Given the description of an element on the screen output the (x, y) to click on. 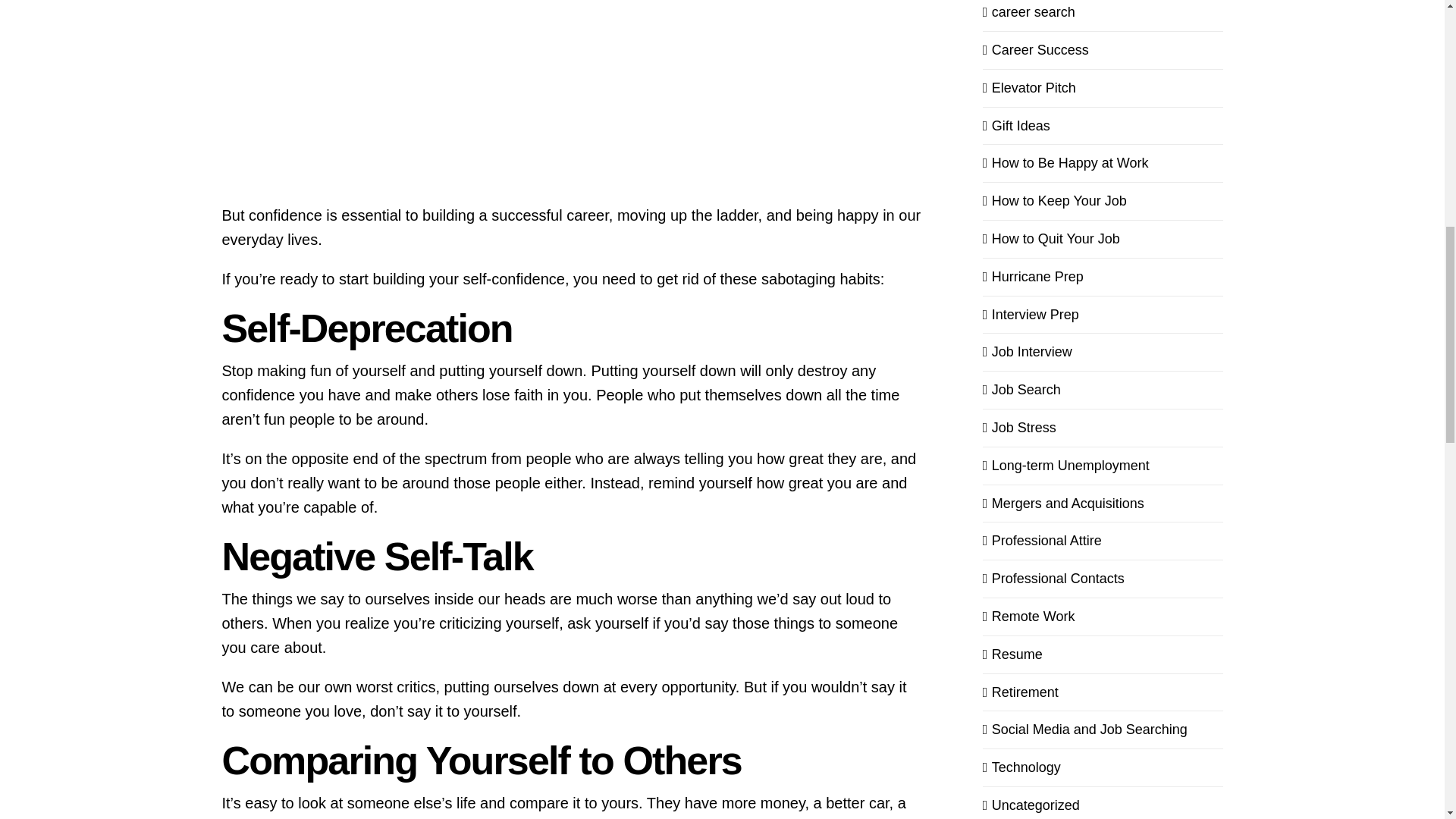
How to Keep Your Job (1103, 201)
Interview Prep (1103, 314)
Elevator Pitch (1103, 87)
Professional Attire (1103, 540)
Hurricane Prep (1103, 277)
Career Success (1103, 50)
How to Quit Your Job (1103, 239)
How to Be Happy at Work (1103, 163)
Job Stress (1103, 427)
Job Interview (1103, 352)
